Given the description of an element on the screen output the (x, y) to click on. 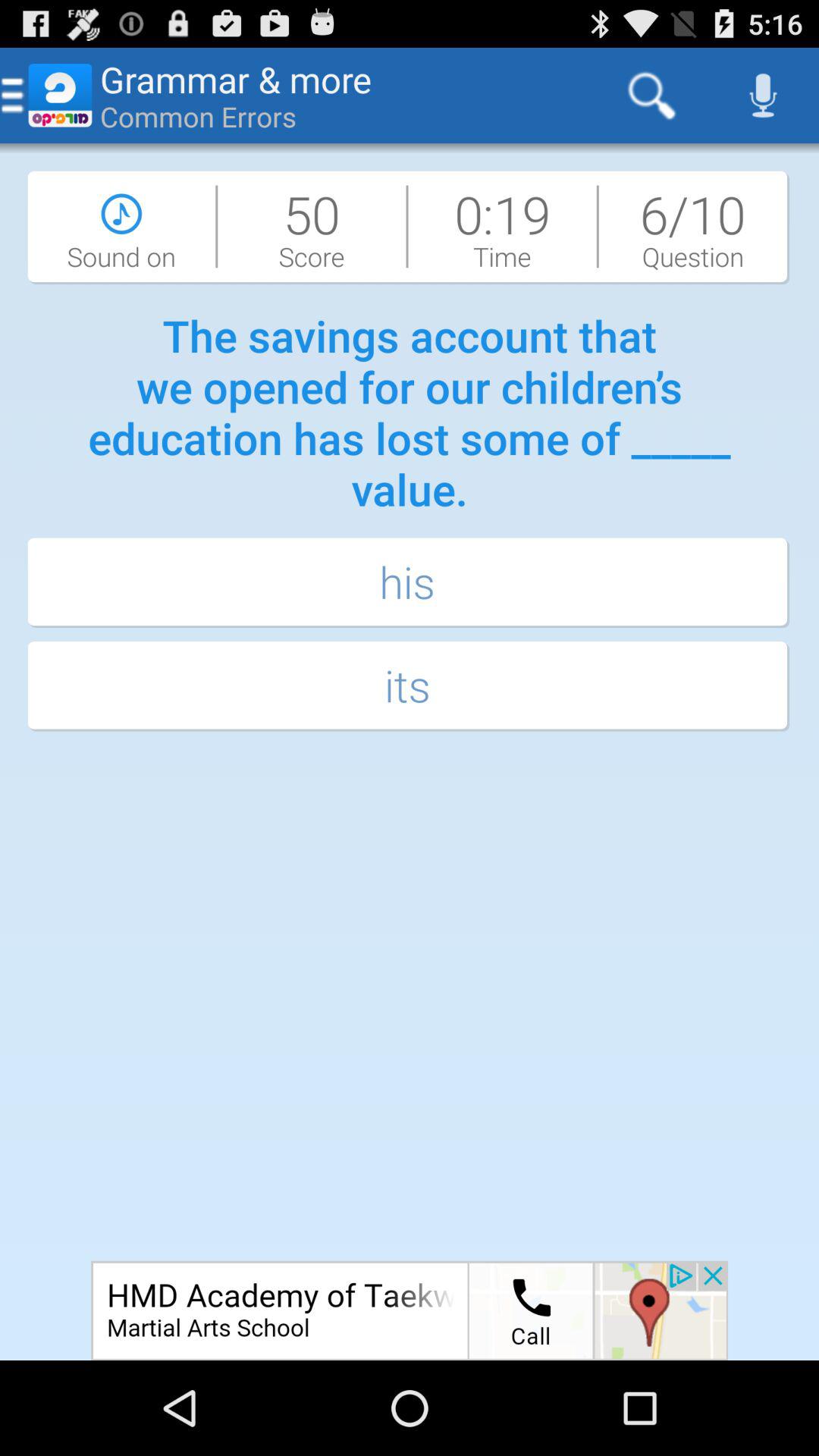
because back devicer (409, 1310)
